Given the description of an element on the screen output the (x, y) to click on. 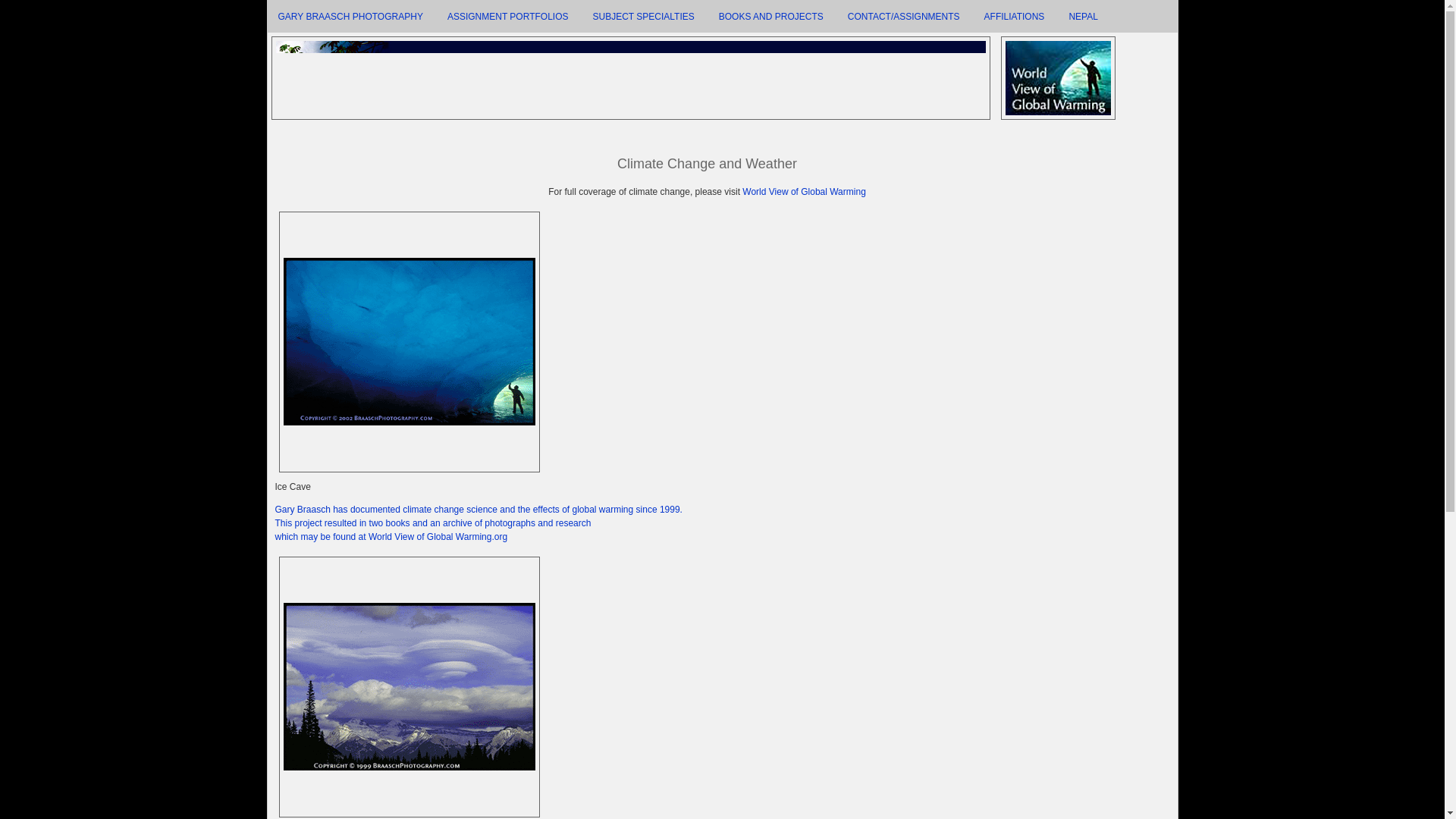
ASSIGNMENT PORTFOLIOS (507, 16)
warming site (478, 523)
World View of Global Warming (804, 191)
SUBJECT SPECIALTIES (642, 16)
GARY BRAASCH PHOTOGRAPHY (349, 16)
BOOKS AND PROJECTS (770, 16)
